Given the description of an element on the screen output the (x, y) to click on. 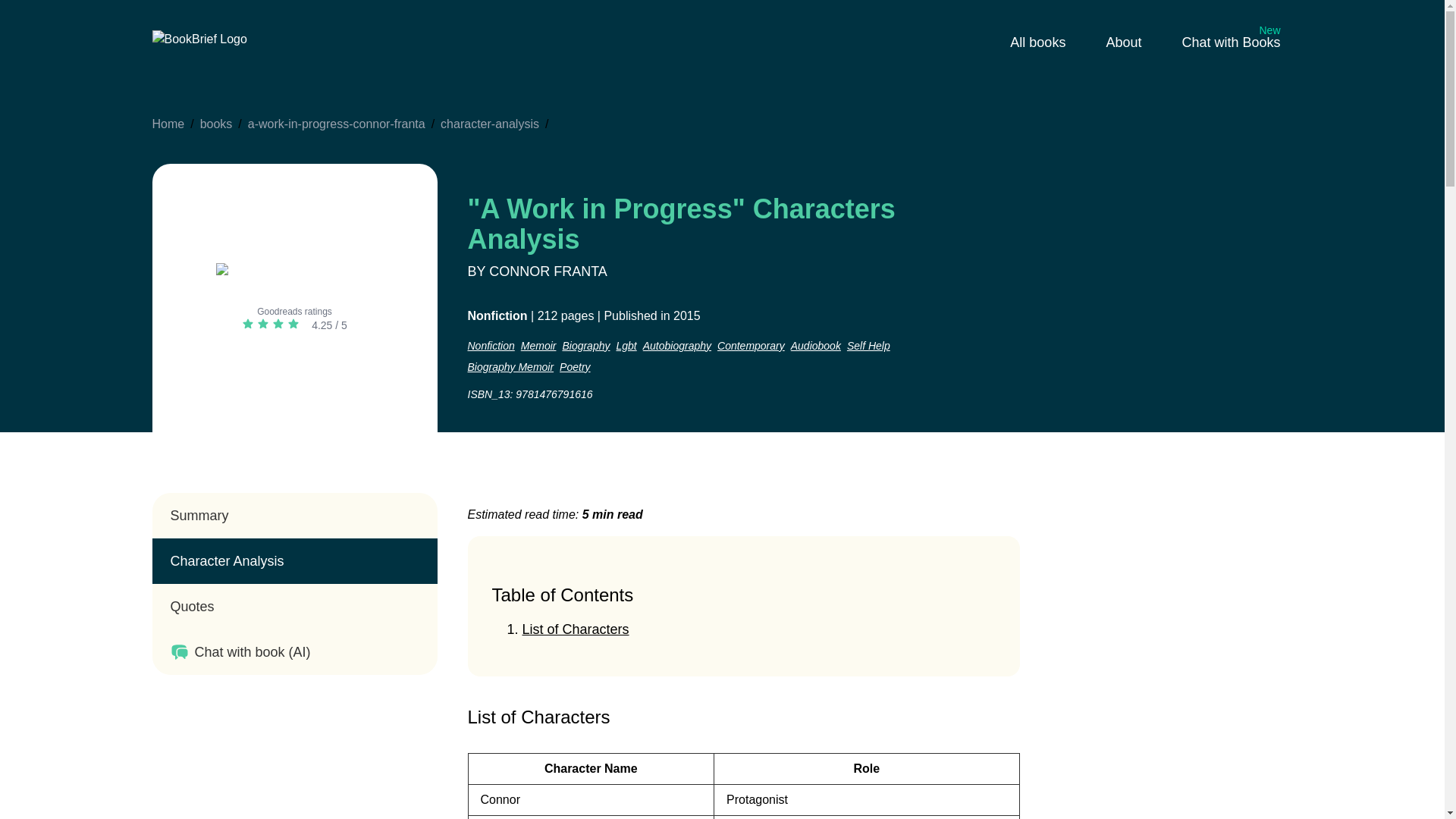
CONNOR FRANTA (548, 271)
Biography Memoir (510, 366)
Autobiography (677, 345)
List of Characters (538, 716)
Home (167, 124)
Character Analysis (293, 560)
All books (1039, 42)
Summary (293, 515)
Lgbt (625, 345)
Quotes (293, 606)
books (216, 124)
character-analysis (489, 124)
Nonfiction (1230, 42)
Self Help (490, 345)
